Given the description of an element on the screen output the (x, y) to click on. 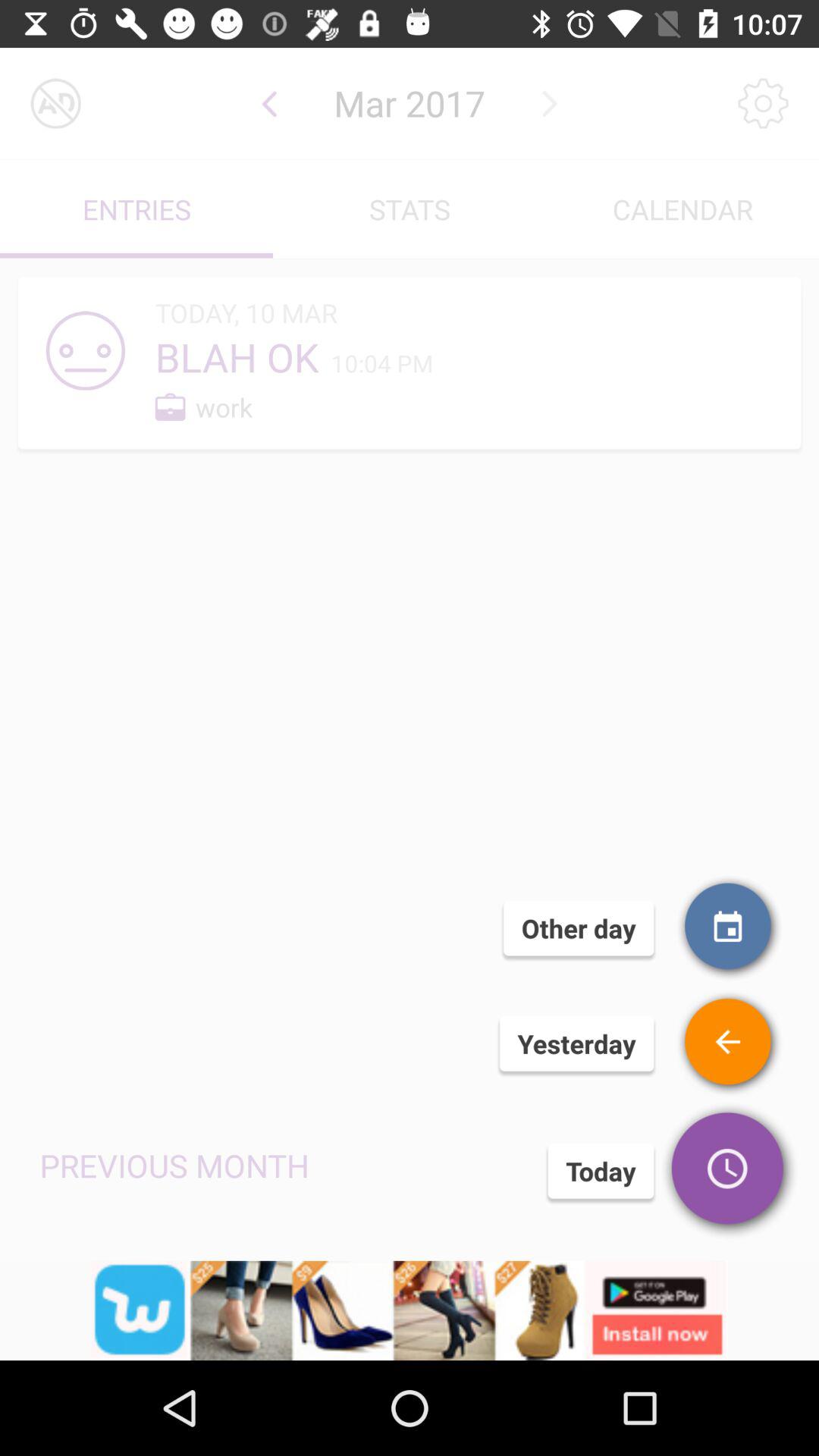
option (55, 103)
